Given the description of an element on the screen output the (x, y) to click on. 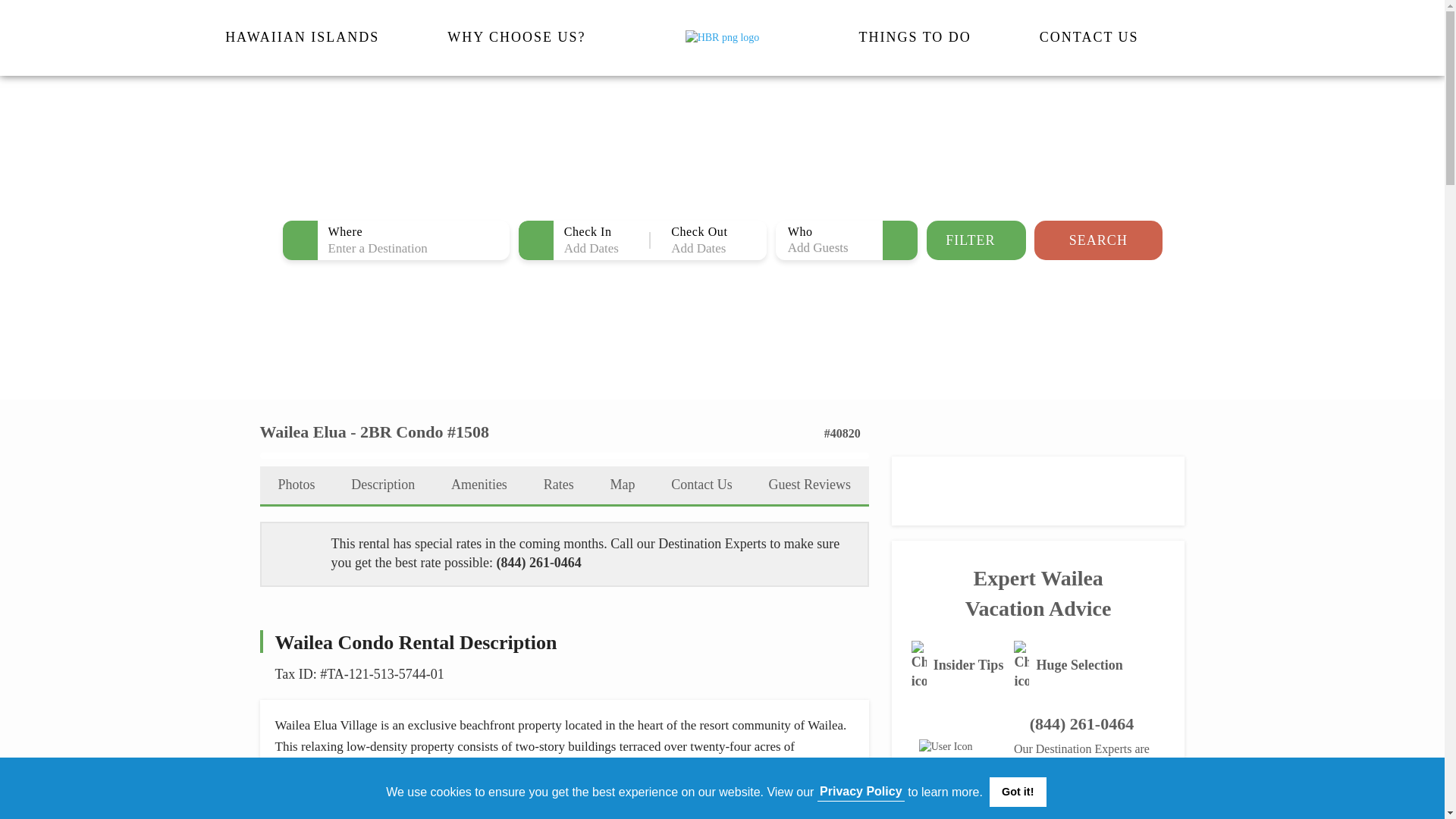
Why Choose Us? (515, 37)
HAWAIIAN ISLANDS (301, 37)
Got it! (1018, 791)
Contact Us (1088, 37)
Privacy Policy (860, 790)
WHY CHOOSE US? (515, 37)
Hawaii Things To Do (915, 37)
Hawaii Vacation Rentals by Hawaiian Beach Rentals (722, 37)
THINGS TO DO (915, 37)
CONTACT US (1088, 37)
Hawaiian Islands (301, 37)
